Given the description of an element on the screen output the (x, y) to click on. 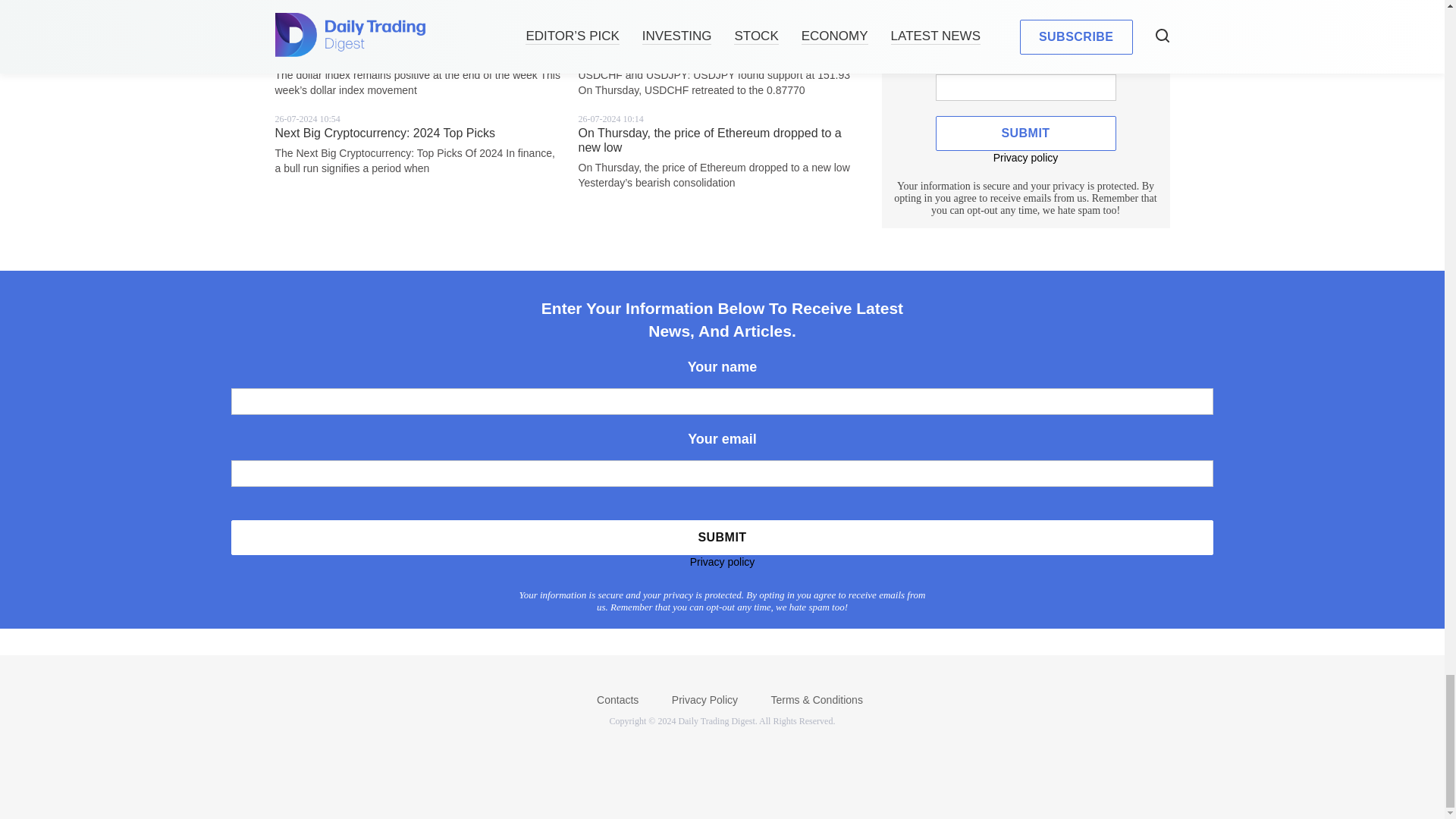
Submit (721, 537)
